Given the description of an element on the screen output the (x, y) to click on. 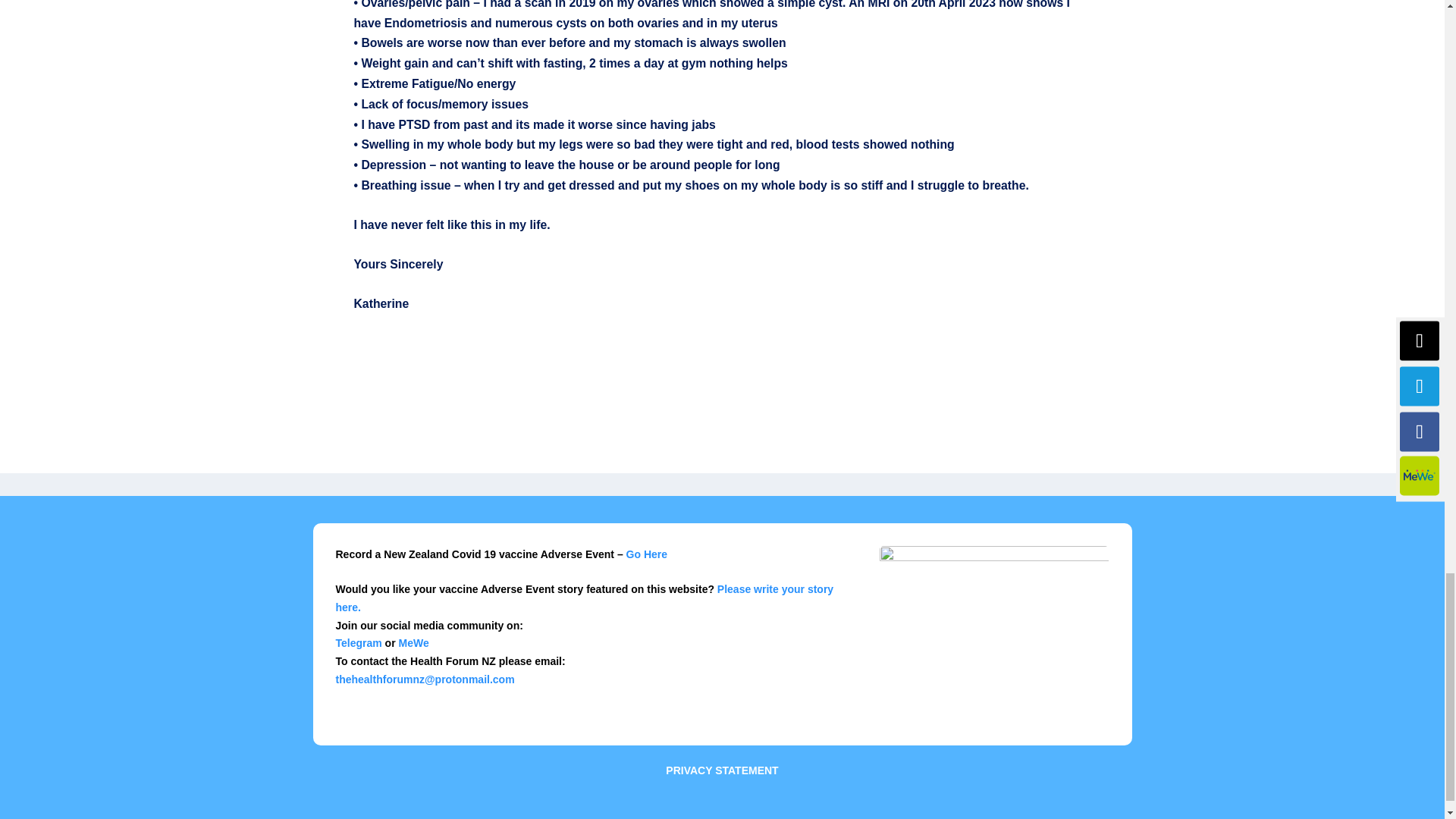
Please write your story here. (583, 598)
PRIVACY STATEMENT (721, 763)
Telegram (357, 643)
PRIVACY STATEMENT (721, 770)
Privacy Statement (721, 770)
MeWe (413, 643)
Go Here (646, 553)
hope1 (994, 634)
